Given the description of an element on the screen output the (x, y) to click on. 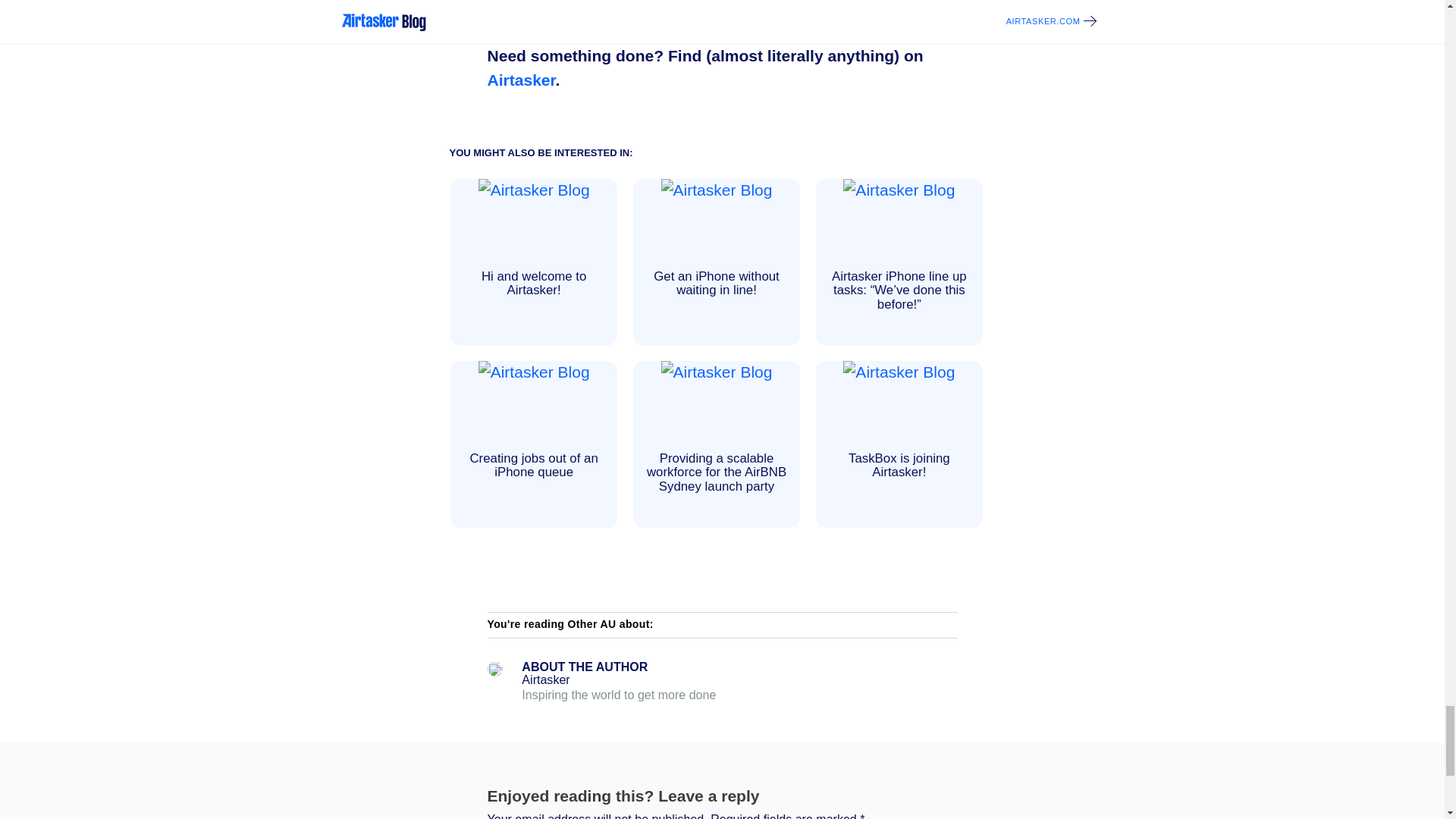
Get an iPhone without waiting in line! (716, 262)
Hi and welcome to Airtasker! (533, 262)
TaskBox is joining Airtasker! (898, 444)
Creating jobs out of an iPhone queue (533, 444)
